Given the description of an element on the screen output the (x, y) to click on. 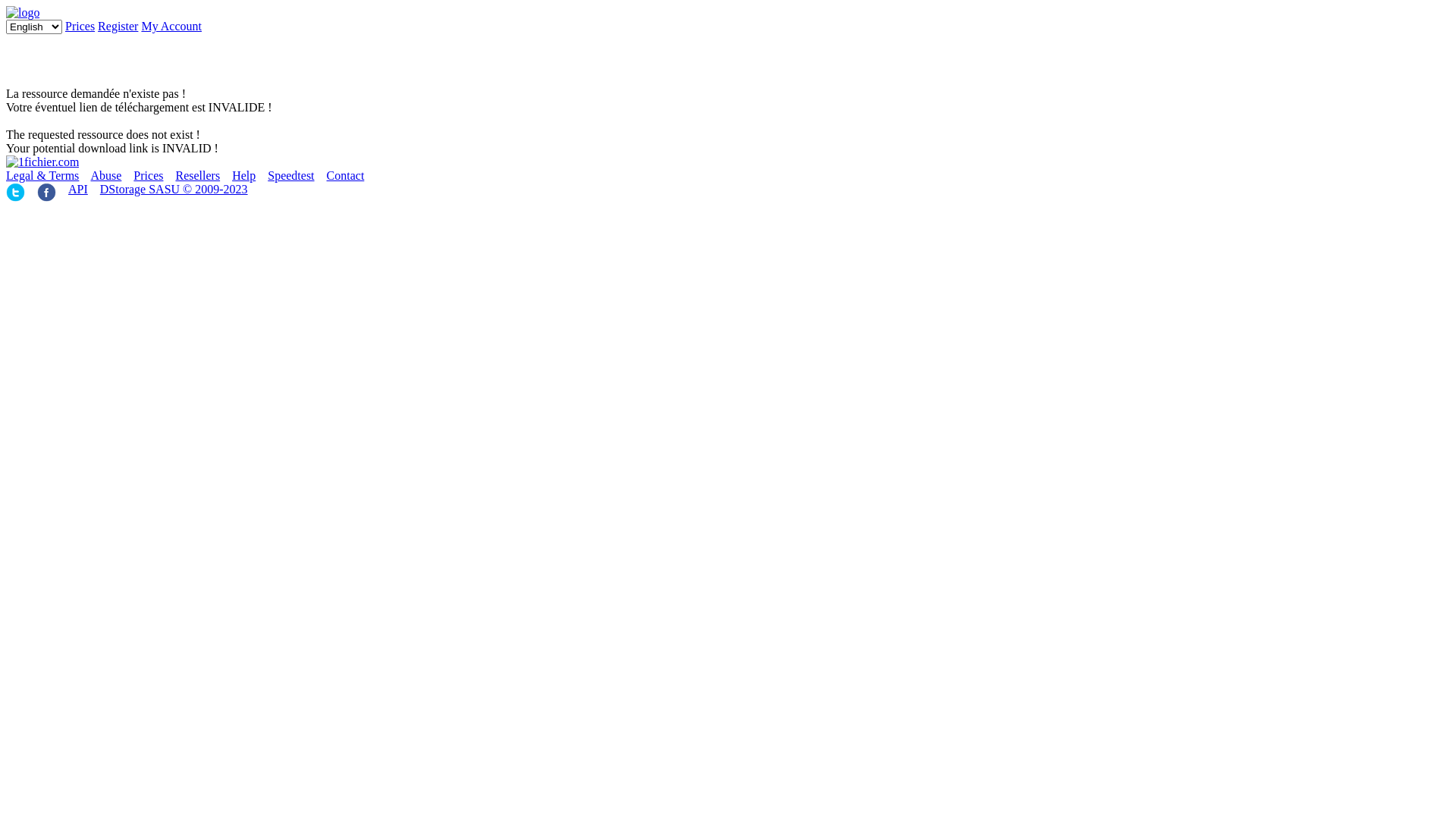
API Element type: text (77, 188)
Abuse Element type: text (105, 175)
Help Element type: text (243, 175)
Speedtest Element type: text (290, 175)
Contact Element type: text (345, 175)
Register Element type: text (117, 25)
Resellers Element type: text (197, 175)
Legal & Terms Element type: text (42, 175)
Prices Element type: text (148, 175)
Back to home page Element type: hover (42, 161)
Prices Element type: text (79, 25)
1fichier.com Element type: hover (22, 12)
My Account Element type: text (171, 25)
